Given the description of an element on the screen output the (x, y) to click on. 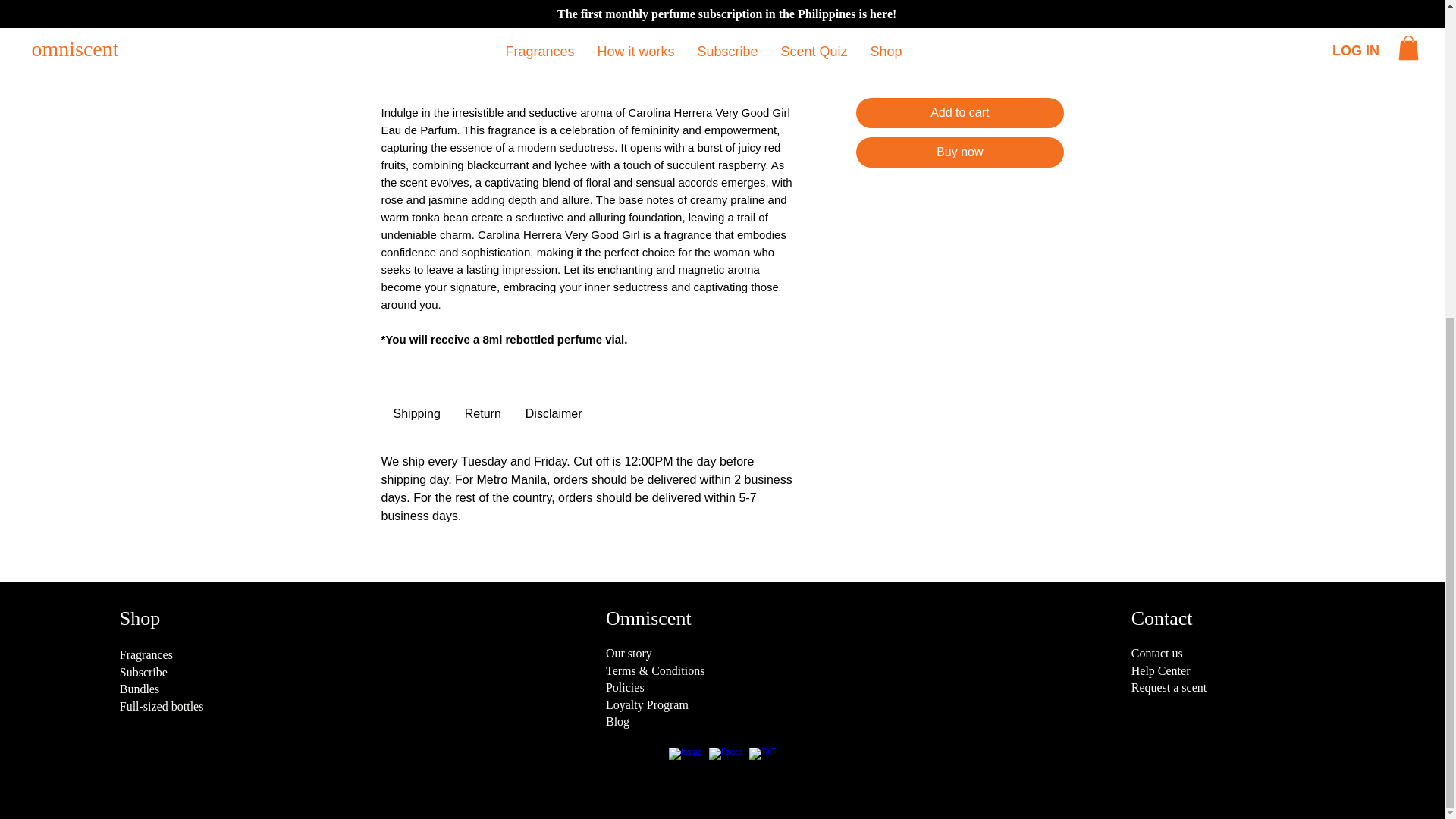
Blog (616, 721)
Help Center (1161, 670)
Add to cart (959, 112)
Request a scent (1169, 686)
Use right and left arrows to navigate between tabs (553, 413)
Fragrances (146, 654)
Use right and left arrows to navigate between tabs (483, 413)
Full-sized bottles (161, 706)
Contact us (1156, 653)
Our story (628, 653)
